Given the description of an element on the screen output the (x, y) to click on. 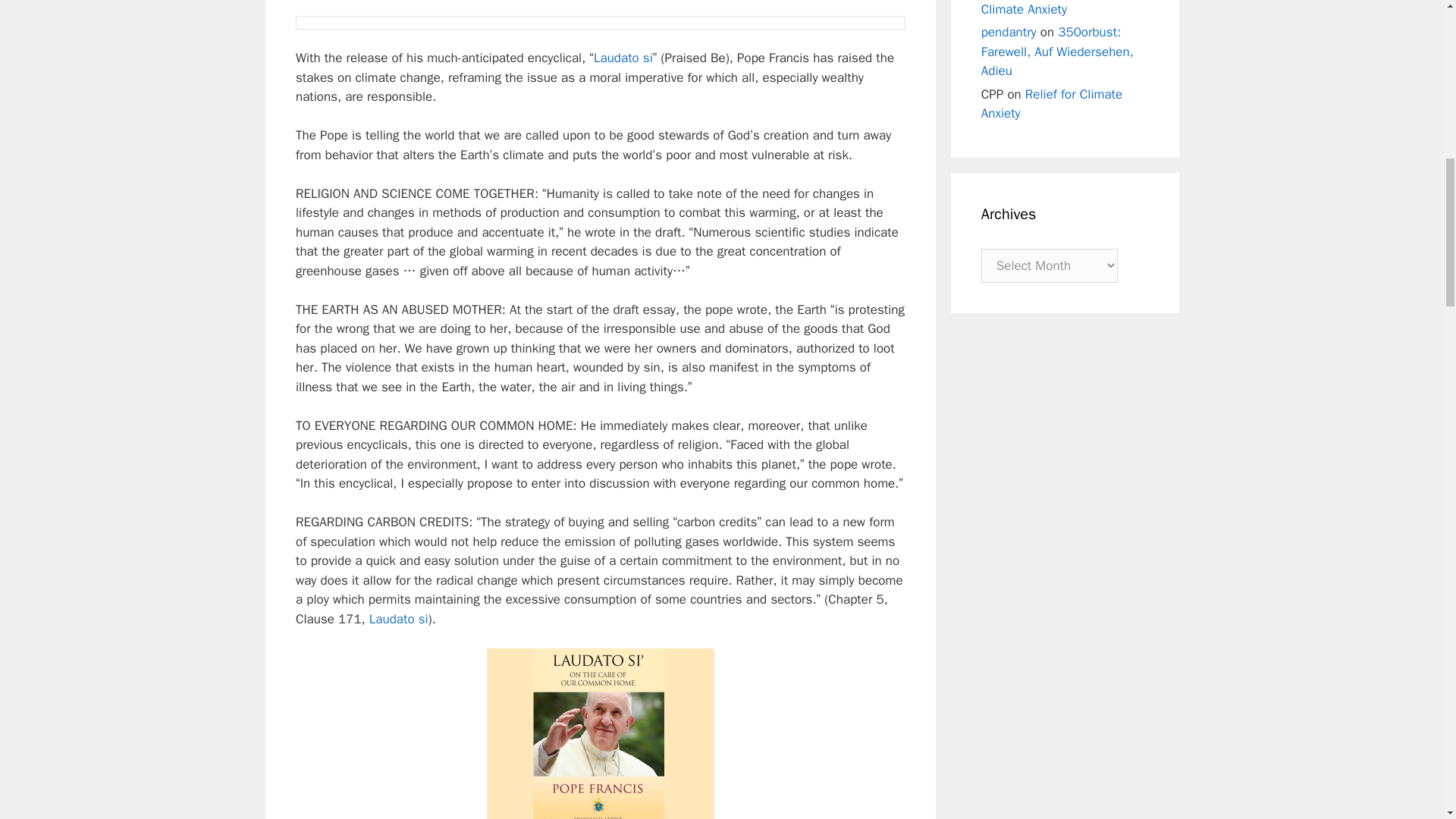
Laudato si (623, 57)
Laudato si (398, 618)
